Given the description of an element on the screen output the (x, y) to click on. 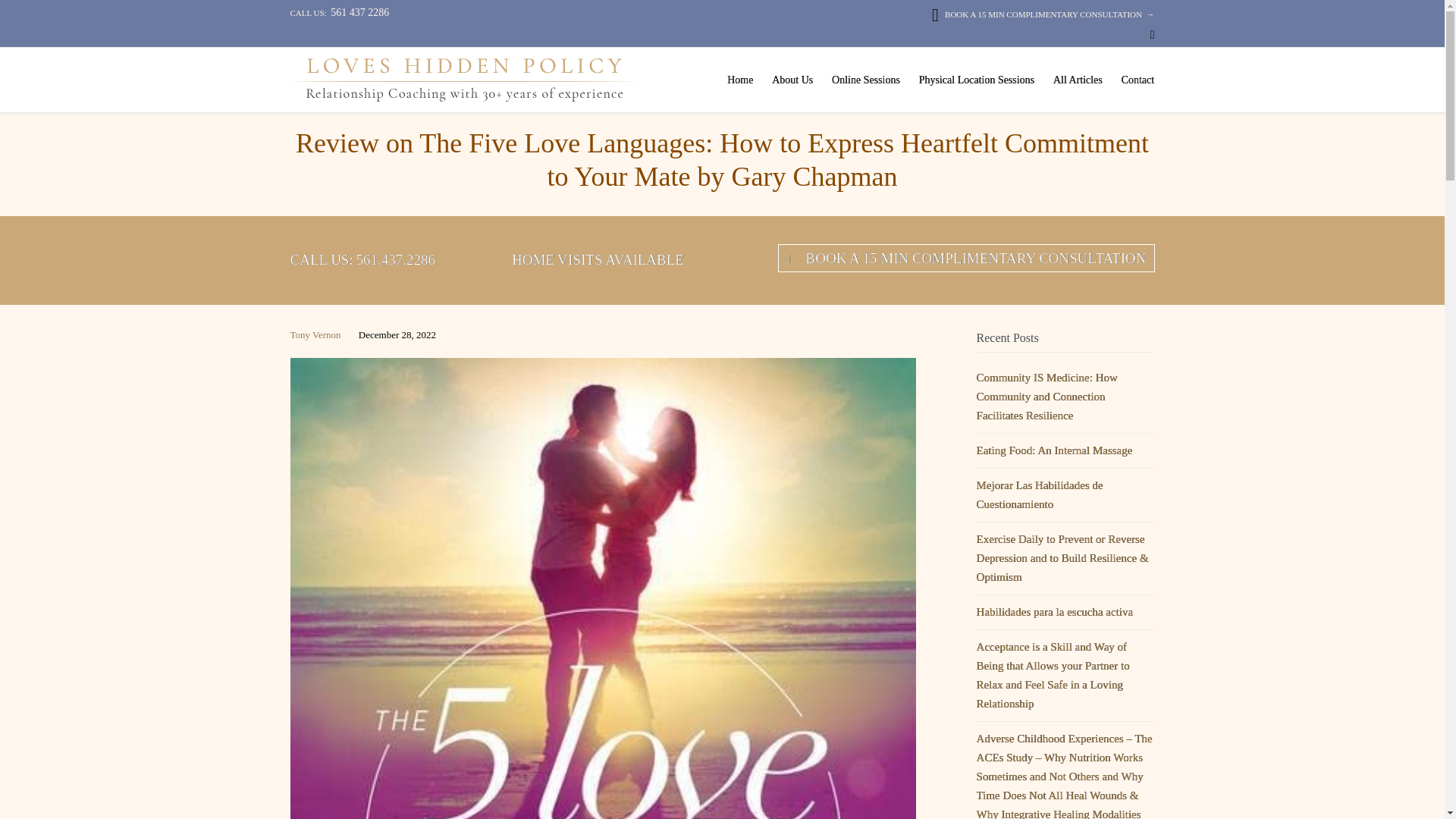
Online Sessions (866, 80)
Physical Location Sessions (976, 80)
561 437 2286 (359, 12)
Home (740, 80)
About Us (792, 80)
